Given the description of an element on the screen output the (x, y) to click on. 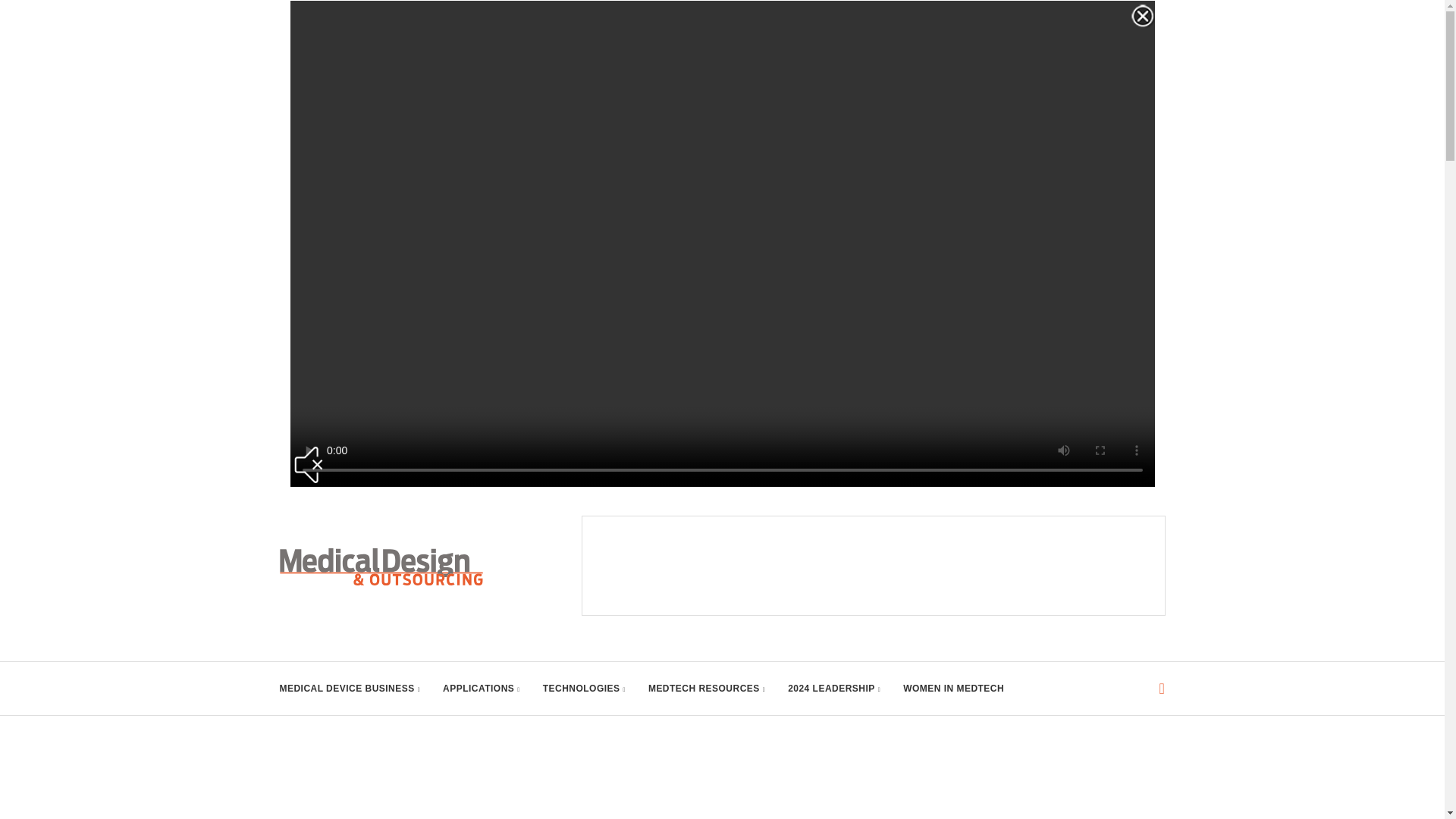
Medical Design and Outsourcing (380, 565)
TECHNOLOGIES (584, 687)
APPLICATIONS (480, 687)
MEDICAL DEVICE BUSINESS (349, 687)
3rd party ad content (873, 565)
3rd party ad content (722, 771)
MEDTECH RESOURCES (706, 687)
